Given the description of an element on the screen output the (x, y) to click on. 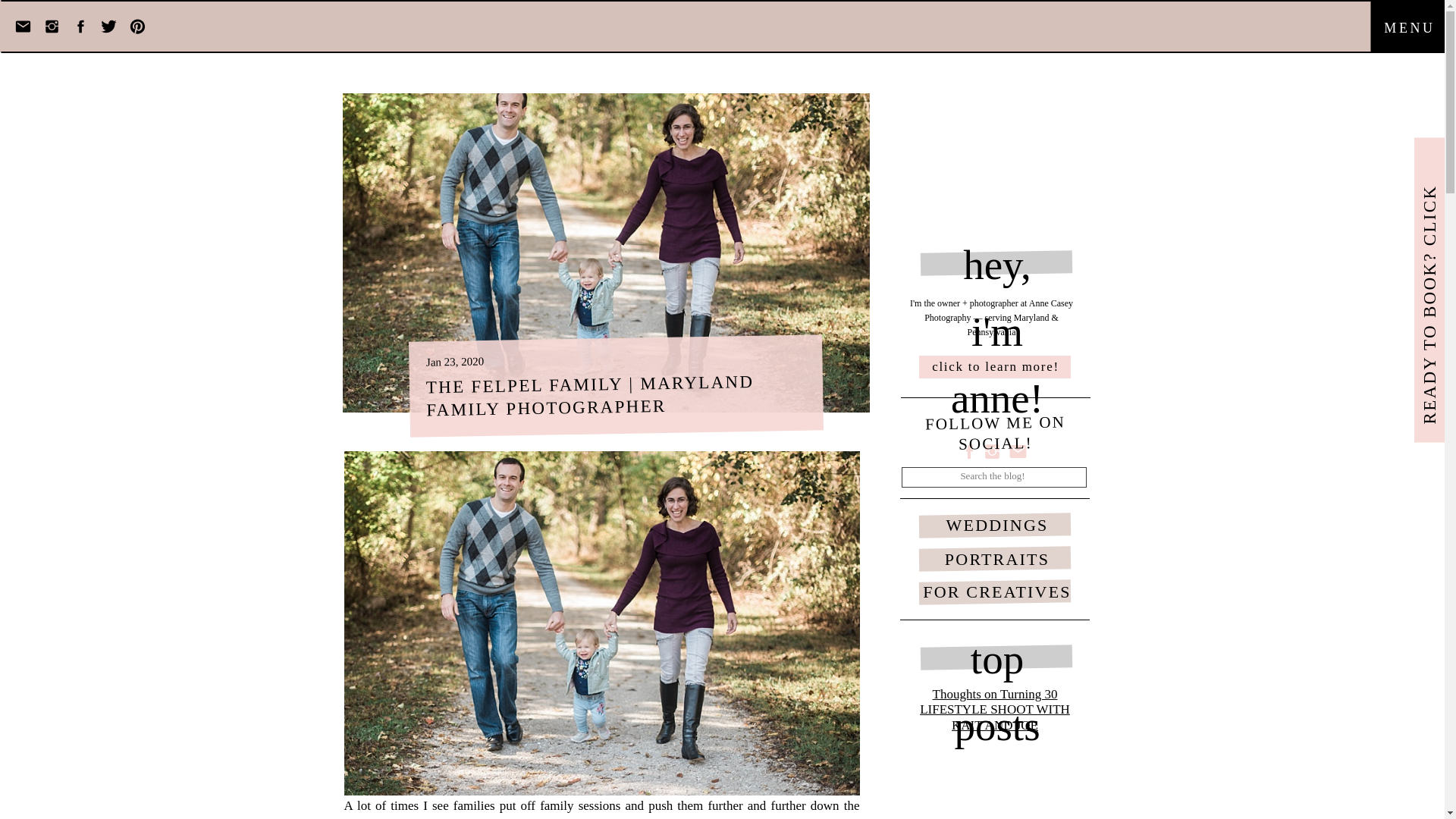
for creatives (979, 761)
contact (1126, 761)
weddings (886, 761)
the ac workshop (1044, 761)
meet anne (838, 761)
blog (1093, 761)
LIFESTYLE SHOOT WITH KAIT AND JOE (995, 716)
top posts (997, 657)
portraits (931, 761)
Thoughts on Turning 30 (995, 694)
hey, i'm anne! (997, 262)
